Given the description of an element on the screen output the (x, y) to click on. 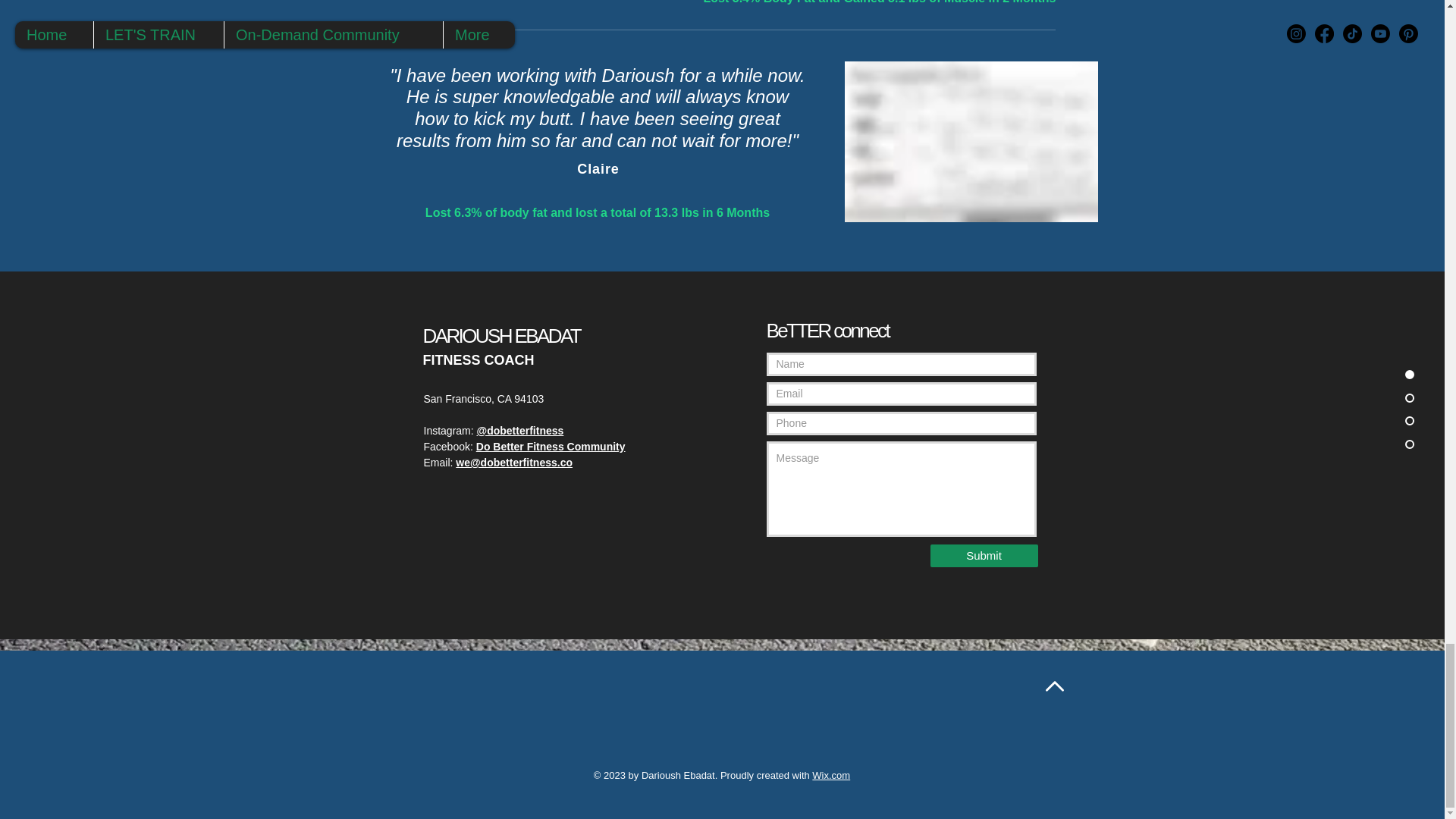
Do Better Fitness Community (551, 446)
Wix.com (831, 775)
Submit (983, 555)
